Given the description of an element on the screen output the (x, y) to click on. 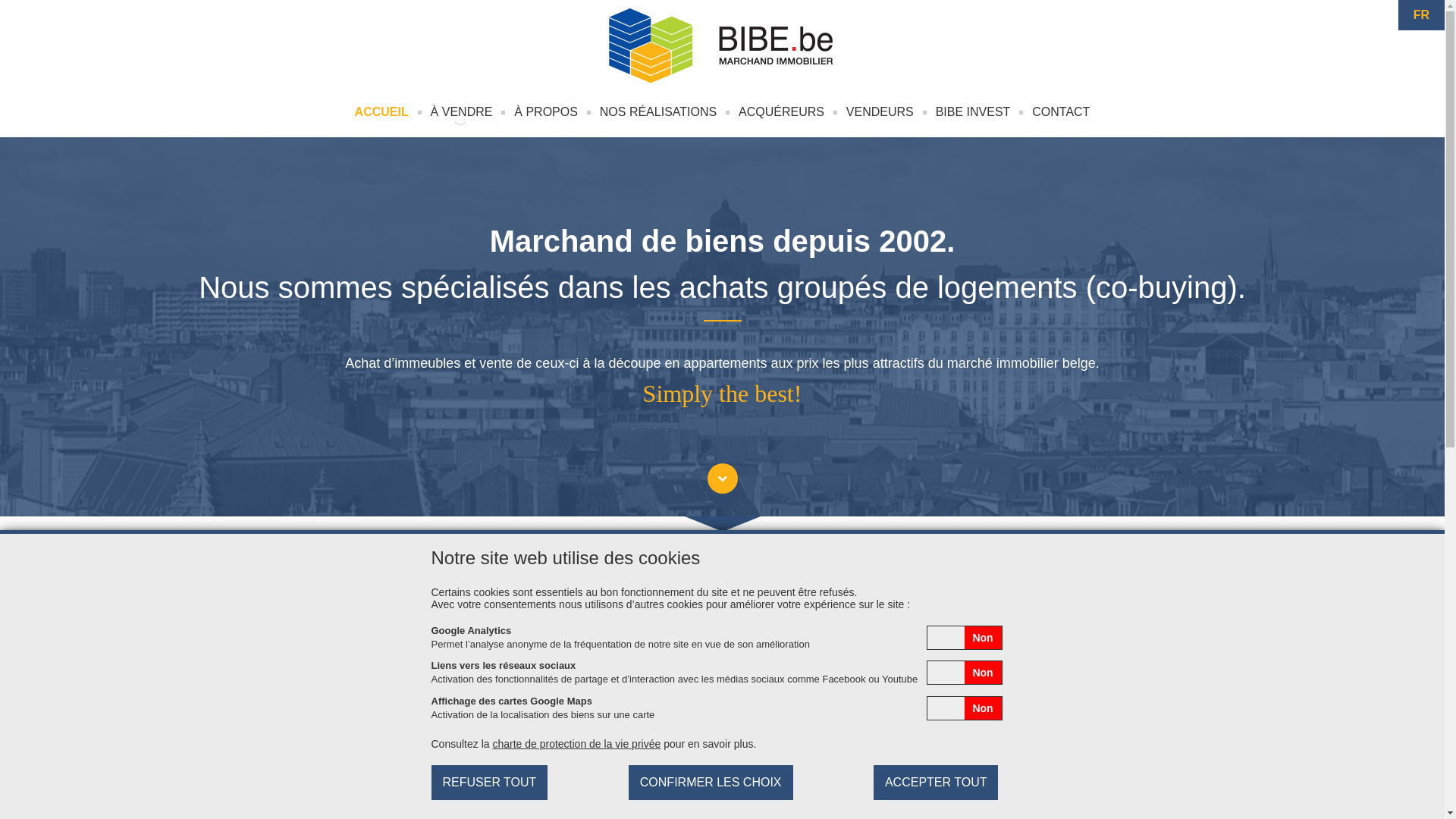
VENDEURS Element type: text (879, 111)
FR Element type: text (1421, 15)
CONTACT Element type: text (1060, 111)
RECHERCHER Element type: text (973, 672)
ACCEPTER TOUT Element type: text (935, 782)
REFUSER TOUT Element type: text (488, 782)
ACCUEIL Element type: text (381, 111)
BIBE INVEST Element type: text (973, 111)
CONFIRMER LES CHOIX Element type: text (710, 782)
